Given the description of an element on the screen output the (x, y) to click on. 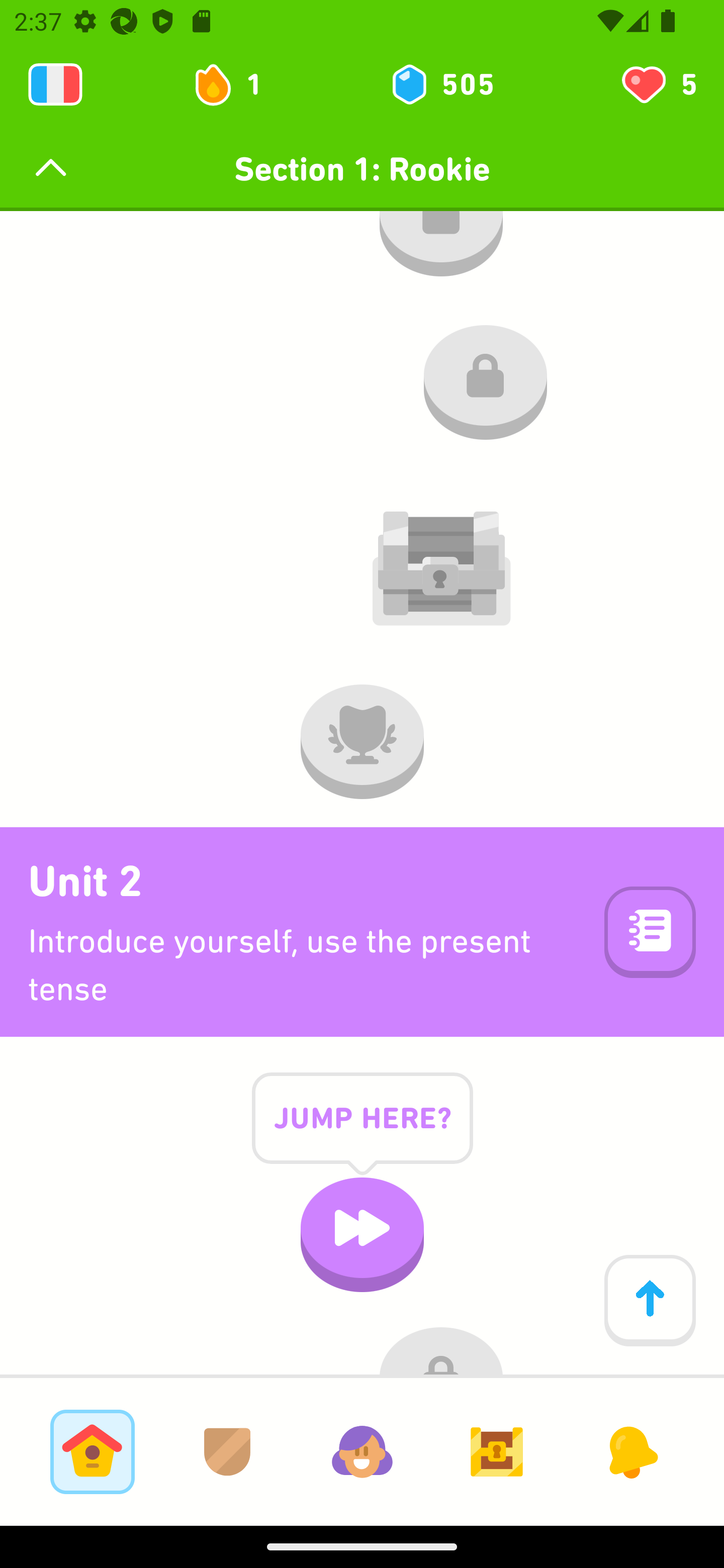
Learning 2131888976 (55, 84)
1 day streak 1 (236, 84)
505 (441, 84)
You have 5 hearts left 5 (657, 84)
Section 1: Rookie (362, 169)
JUMP HERE? (361, 1133)
Learn Tab (91, 1451)
Leagues Tab (227, 1451)
Profile Tab (361, 1451)
Goals Tab (496, 1451)
News Tab (631, 1451)
